Given the description of an element on the screen output the (x, y) to click on. 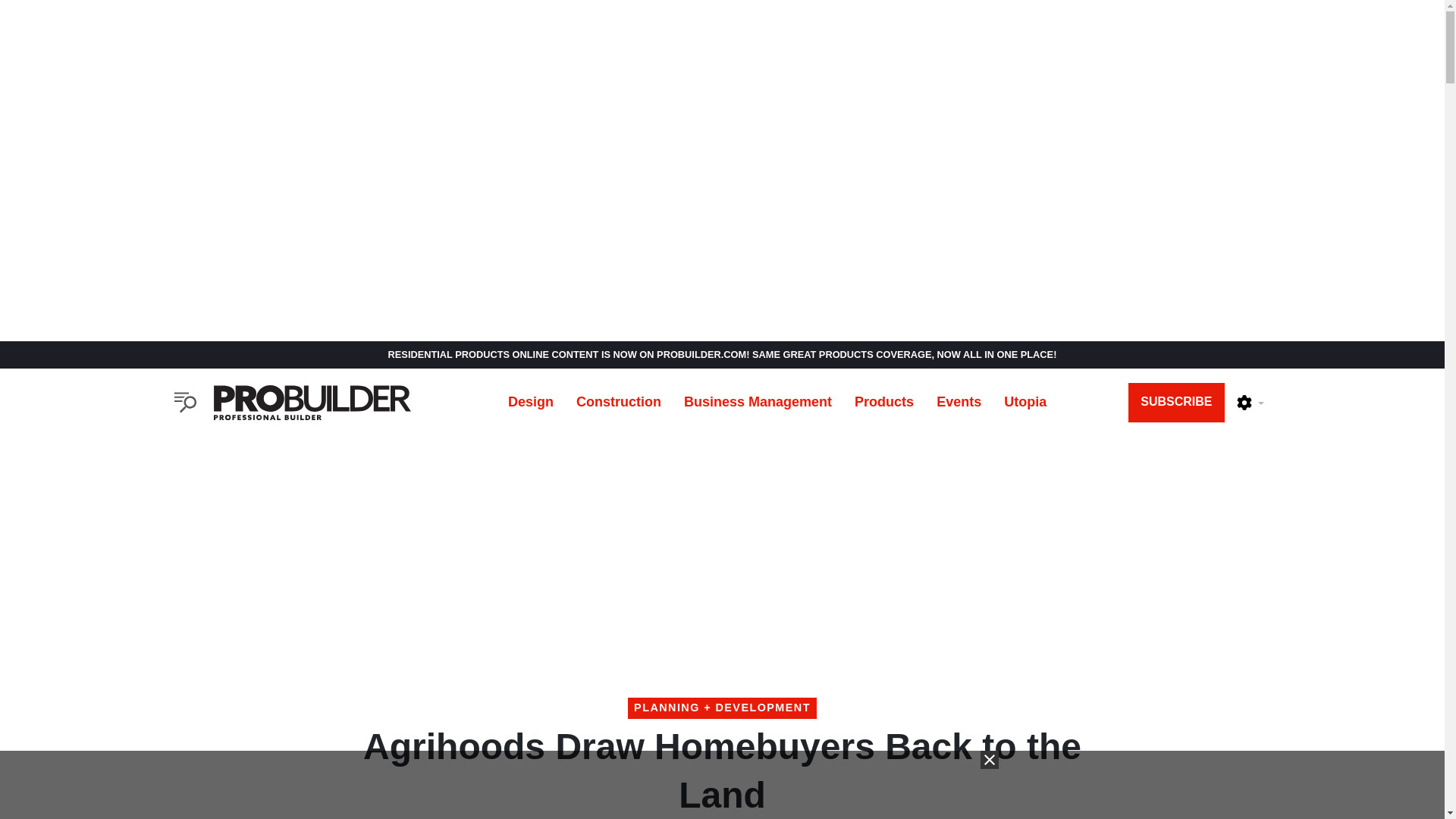
Construction (618, 402)
Design (530, 402)
3rd party ad content (721, 785)
Events (958, 402)
SUBSCRIBE (1176, 402)
Business Management (757, 402)
Products (883, 402)
Utopia (1025, 402)
